Given the description of an element on the screen output the (x, y) to click on. 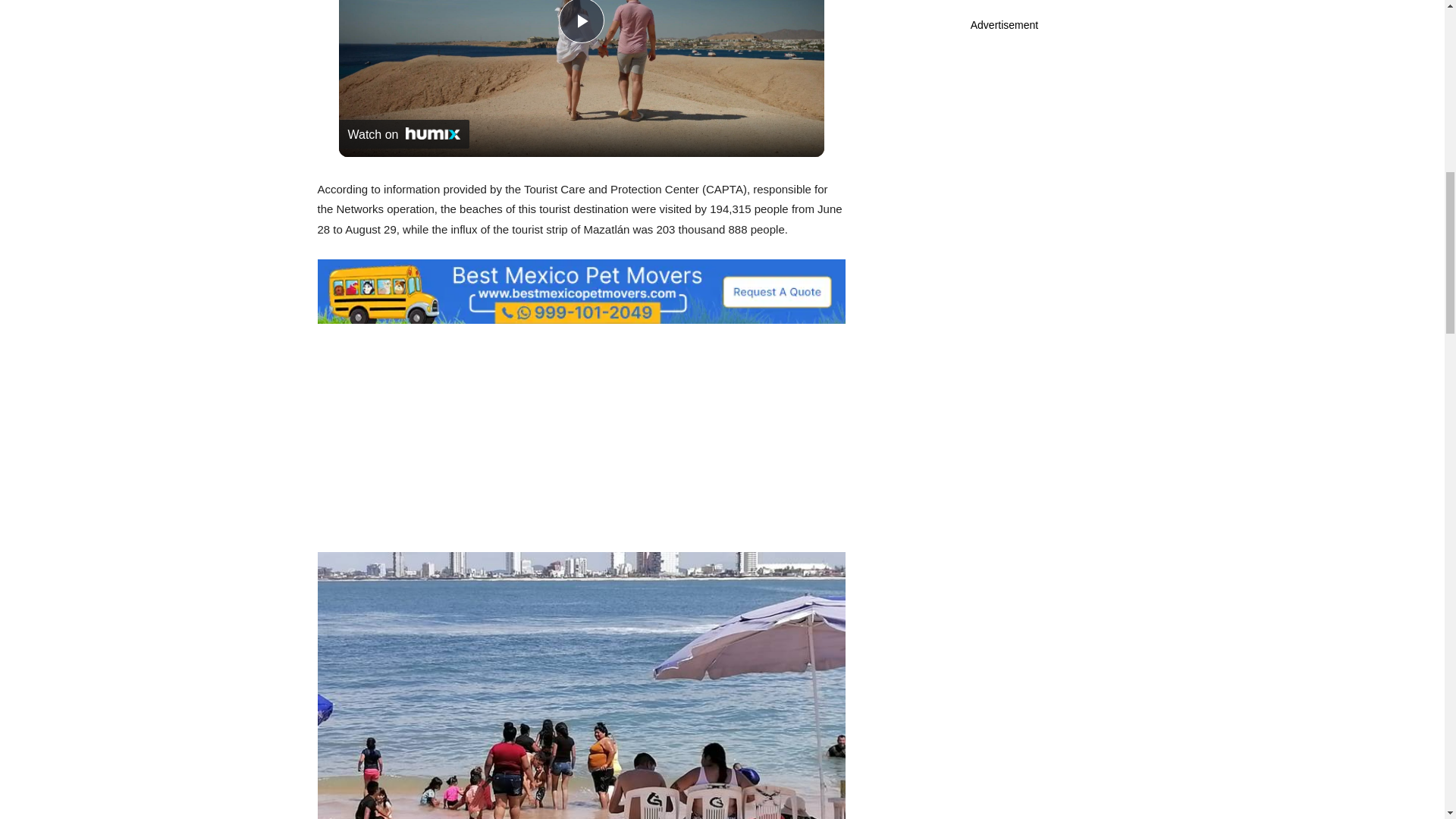
Play Video (580, 21)
